Given the description of an element on the screen output the (x, y) to click on. 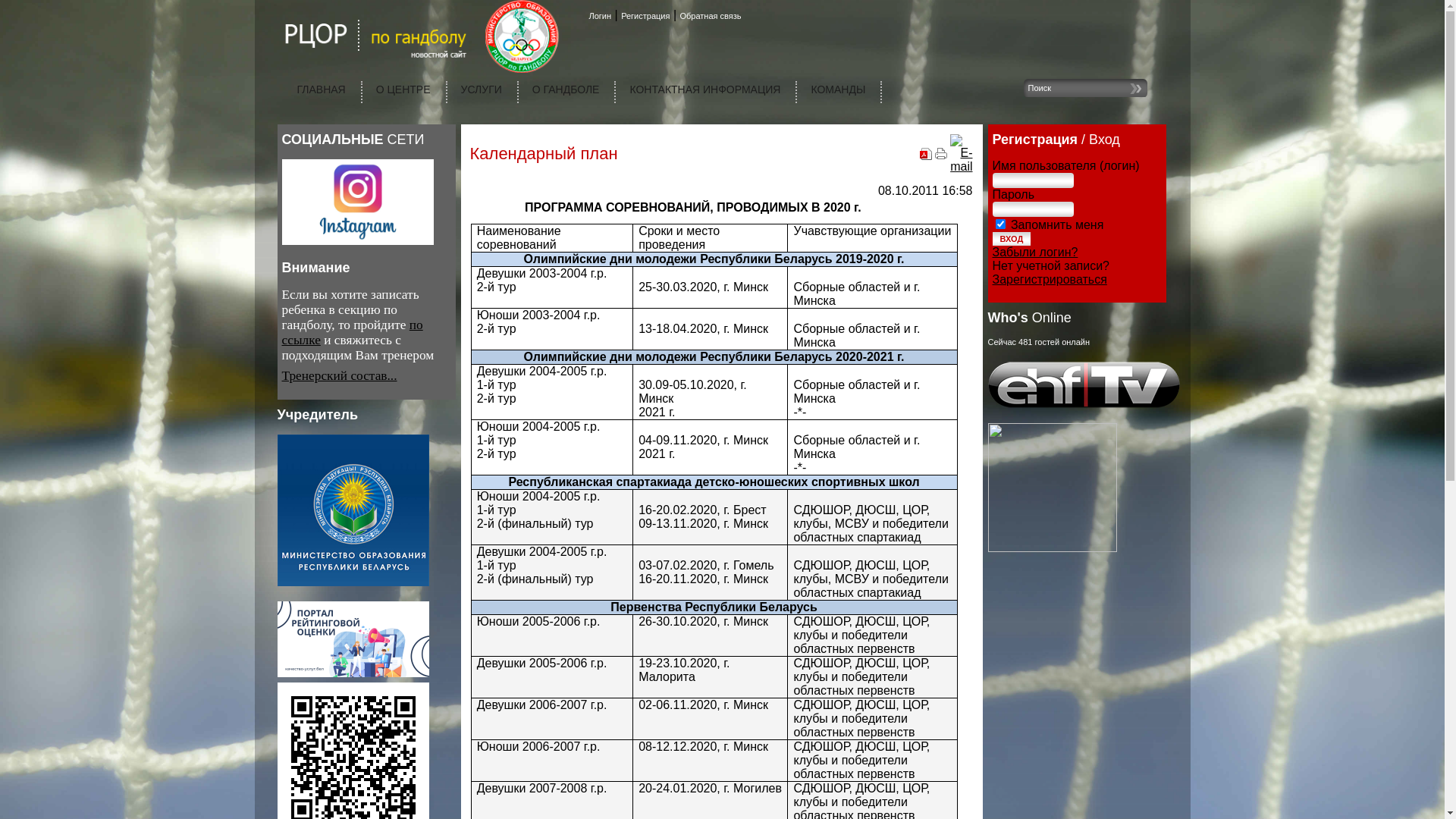
PDF Element type: hover (925, 155)
E-mail Element type: hover (961, 166)
